Given the description of an element on the screen output the (x, y) to click on. 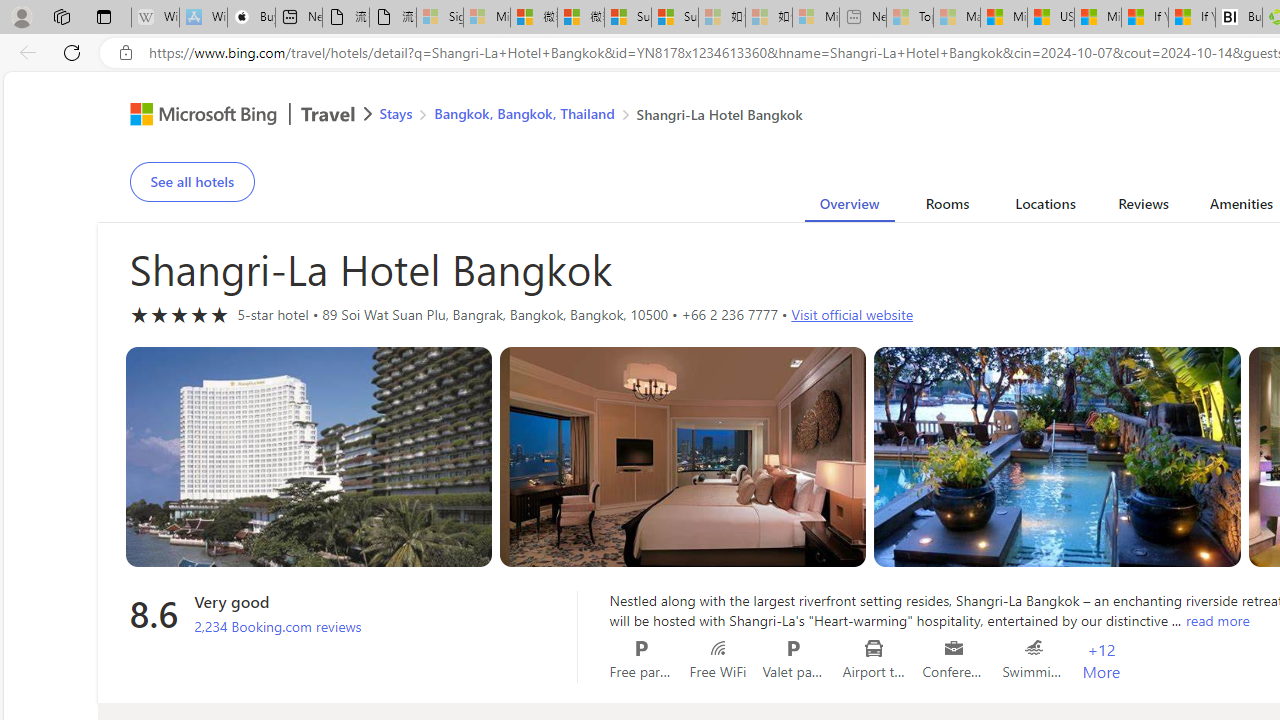
+12 More Amenities (1101, 661)
Microsoft Bing (194, 116)
Free parking (641, 647)
Conference rooms (953, 647)
See all hotels (191, 182)
Reviews (1143, 207)
Visit official website (851, 314)
AutomationID: bread-crumb-root (578, 116)
Marine life - MSN - Sleeping (957, 17)
